Given the description of an element on the screen output the (x, y) to click on. 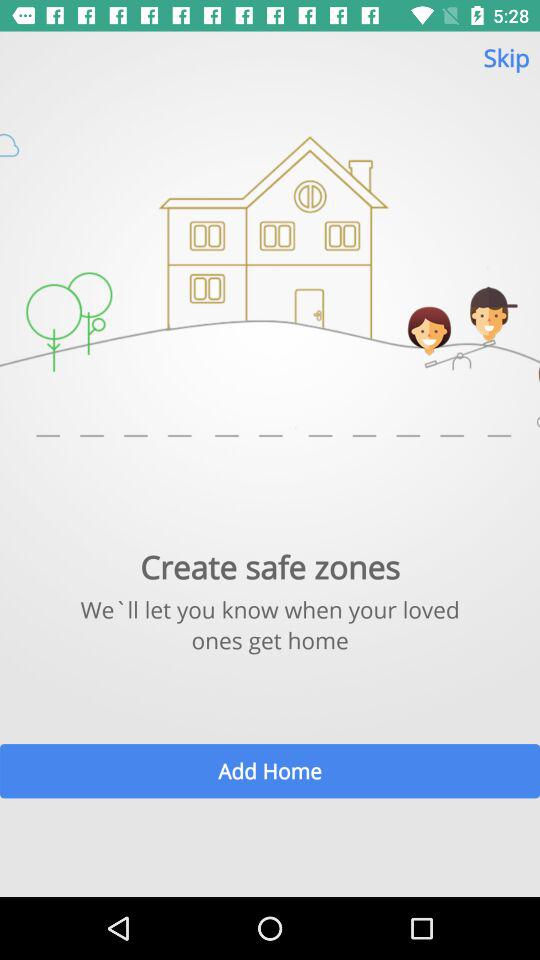
click the girl image on the page (429, 324)
